Given the description of an element on the screen output the (x, y) to click on. 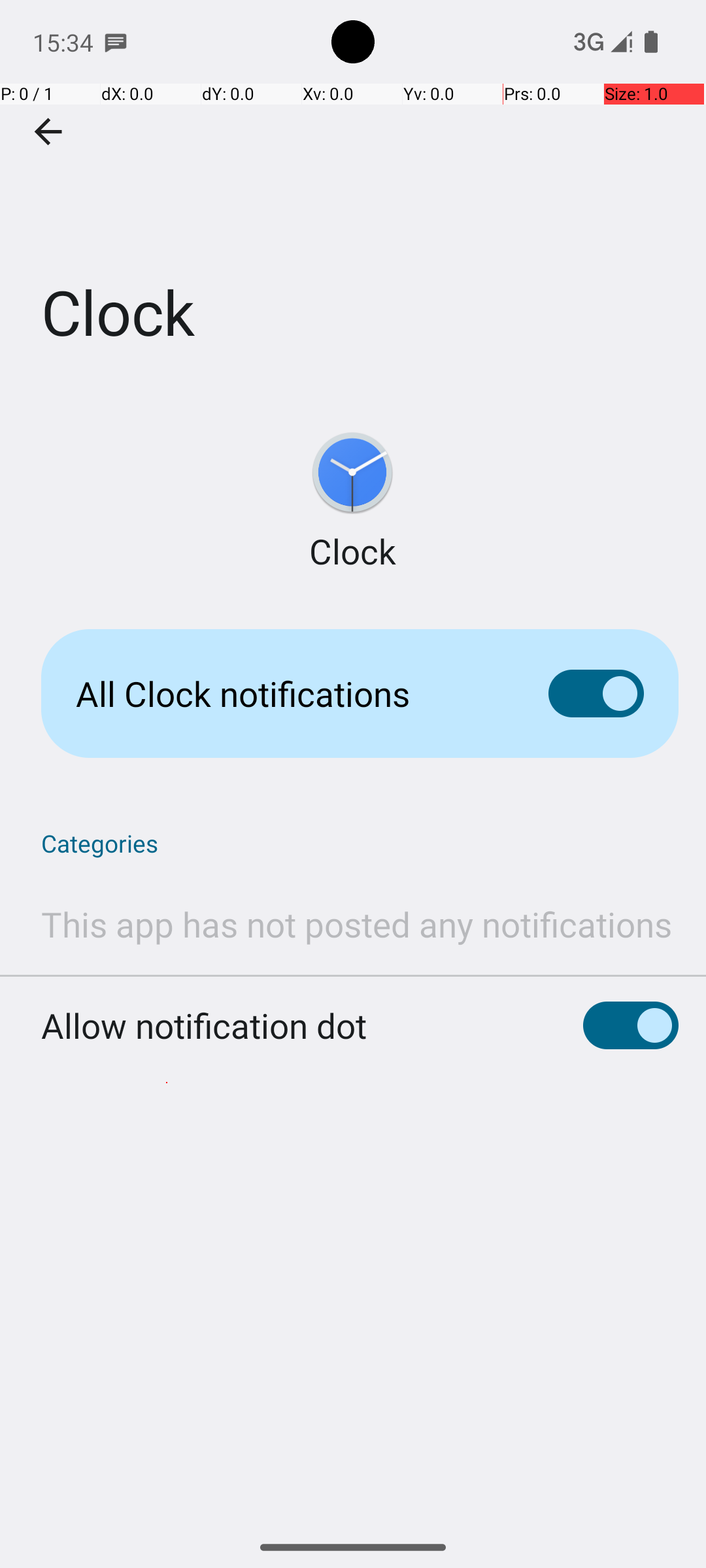
All Clock notifications Element type: android.widget.TextView (291, 693)
This app has not posted any notifications Element type: android.widget.TextView (356, 923)
Allow notification dot Element type: android.widget.TextView (203, 1025)
